Given the description of an element on the screen output the (x, y) to click on. 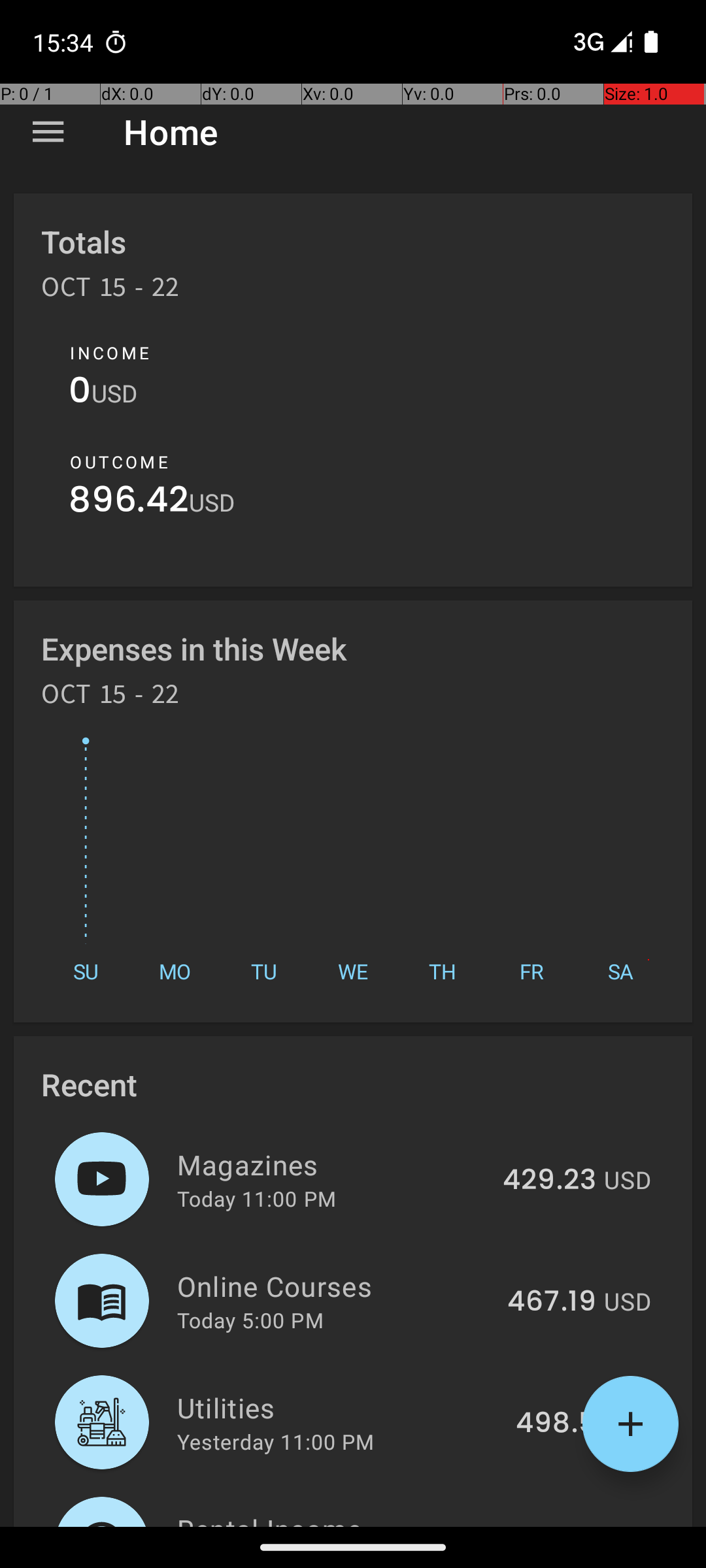
896.42 Element type: android.widget.TextView (128, 502)
429.23 Element type: android.widget.TextView (549, 1180)
Online Courses Element type: android.widget.TextView (334, 1285)
467.19 Element type: android.widget.TextView (551, 1301)
Yesterday 11:00 PM Element type: android.widget.TextView (275, 1441)
498.5 Element type: android.widget.TextView (555, 1423)
440.92 Element type: android.widget.TextView (547, 1524)
